Given the description of an element on the screen output the (x, y) to click on. 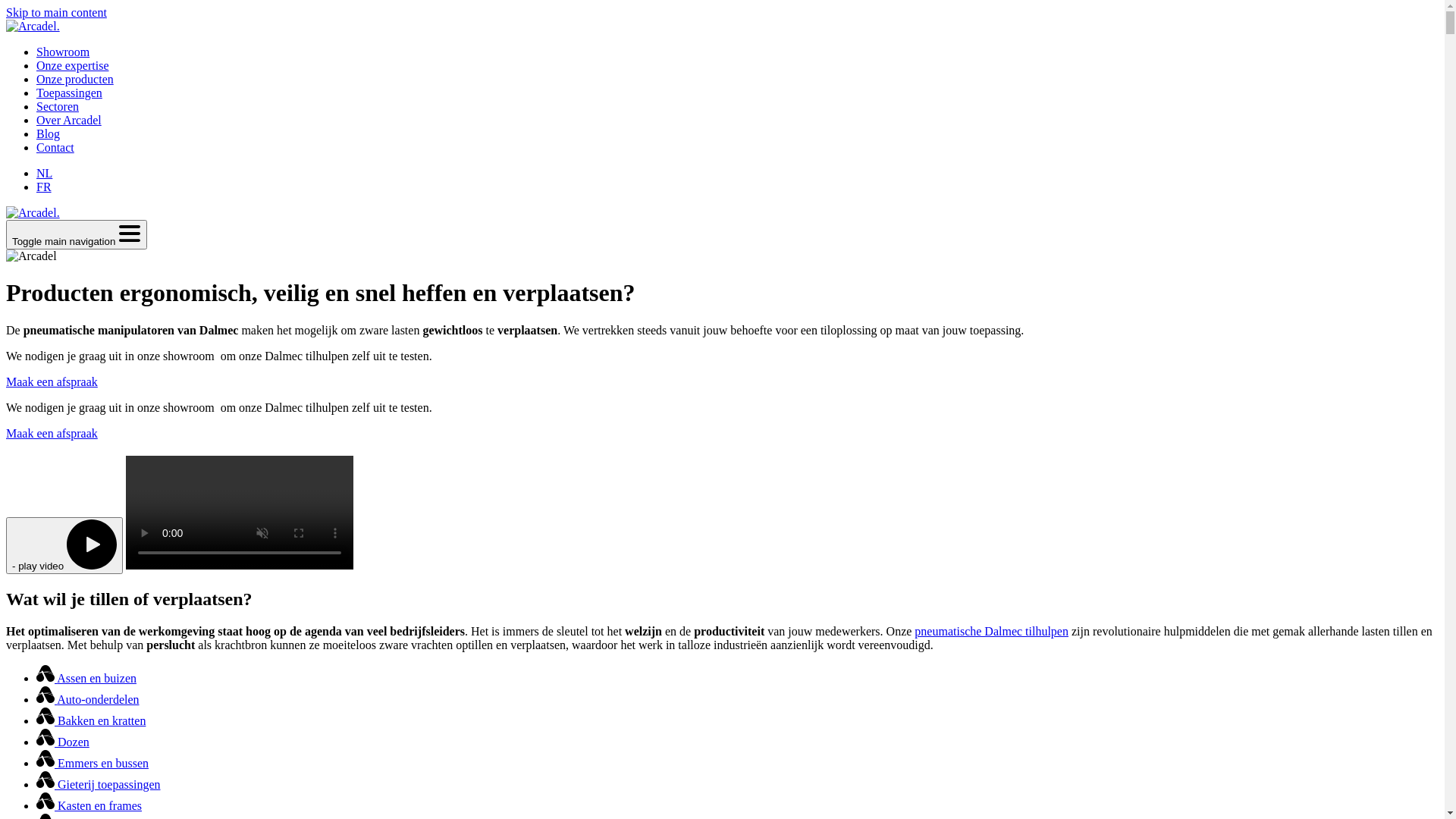
Onze expertise Element type: text (72, 65)
pneumatische Dalmec tilhulpen Element type: text (991, 630)
Assen en buizen Element type: text (86, 677)
- play video Element type: text (64, 545)
Bakken en kratten Element type: text (90, 720)
Maak een afspraak Element type: text (51, 381)
Blog Element type: text (47, 133)
Gieterij toepassingen Element type: text (98, 784)
Skip to main content Element type: text (56, 12)
Kasten en frames Element type: text (88, 805)
Toggle main navigation Element type: text (76, 234)
NL Element type: text (44, 172)
Onze producten Element type: text (74, 78)
Dozen Element type: text (62, 741)
Emmers en bussen Element type: text (92, 762)
Auto-onderdelen Element type: text (87, 699)
Toepassingen Element type: text (69, 92)
Maak een afspraak Element type: text (51, 432)
Showroom Element type: text (62, 51)
FR Element type: text (43, 186)
Over Arcadel Element type: text (68, 119)
Contact Element type: text (55, 147)
Sectoren Element type: text (57, 106)
